Given the description of an element on the screen output the (x, y) to click on. 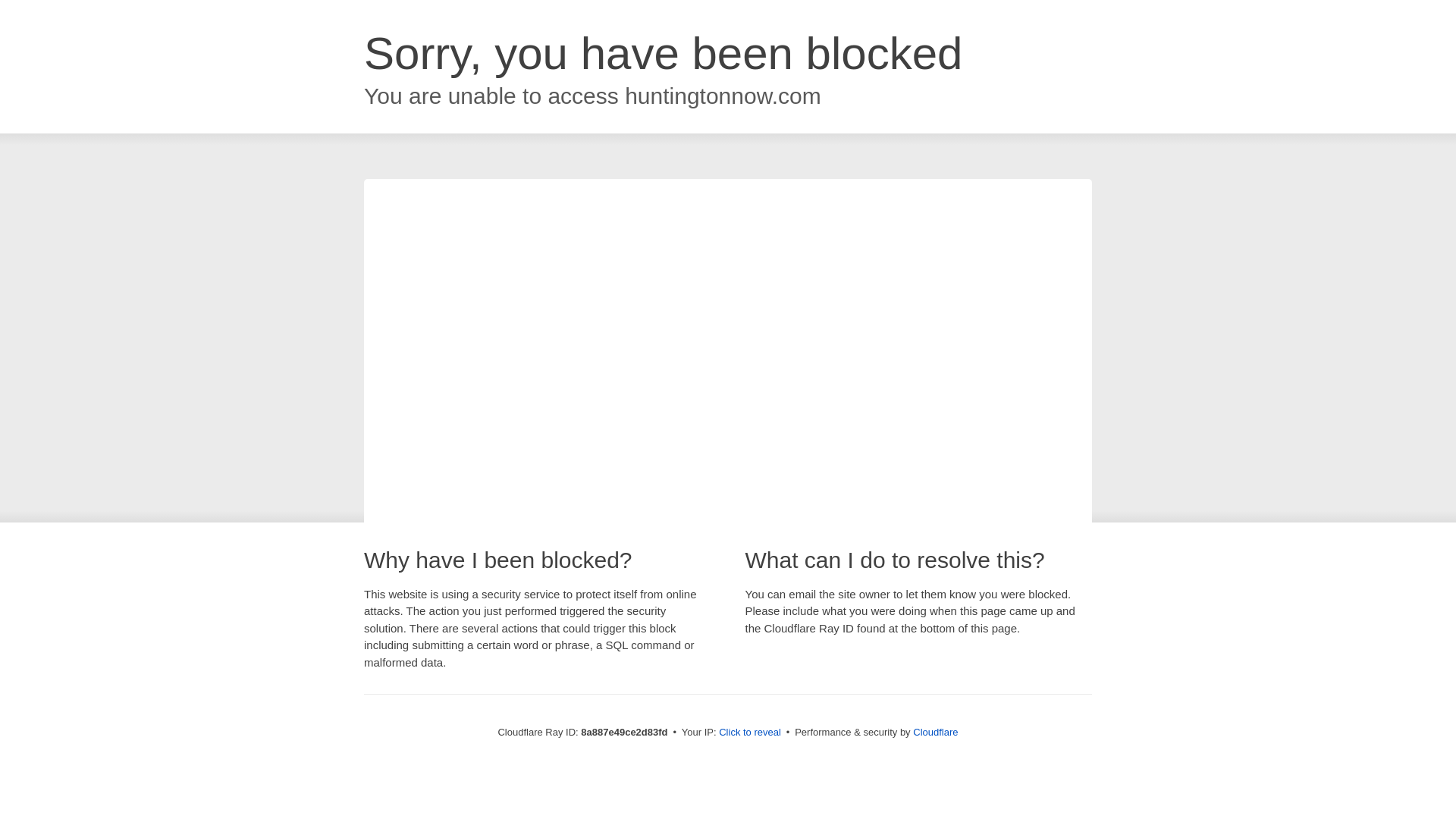
Cloudflare (935, 731)
Click to reveal (749, 732)
